Given the description of an element on the screen output the (x, y) to click on. 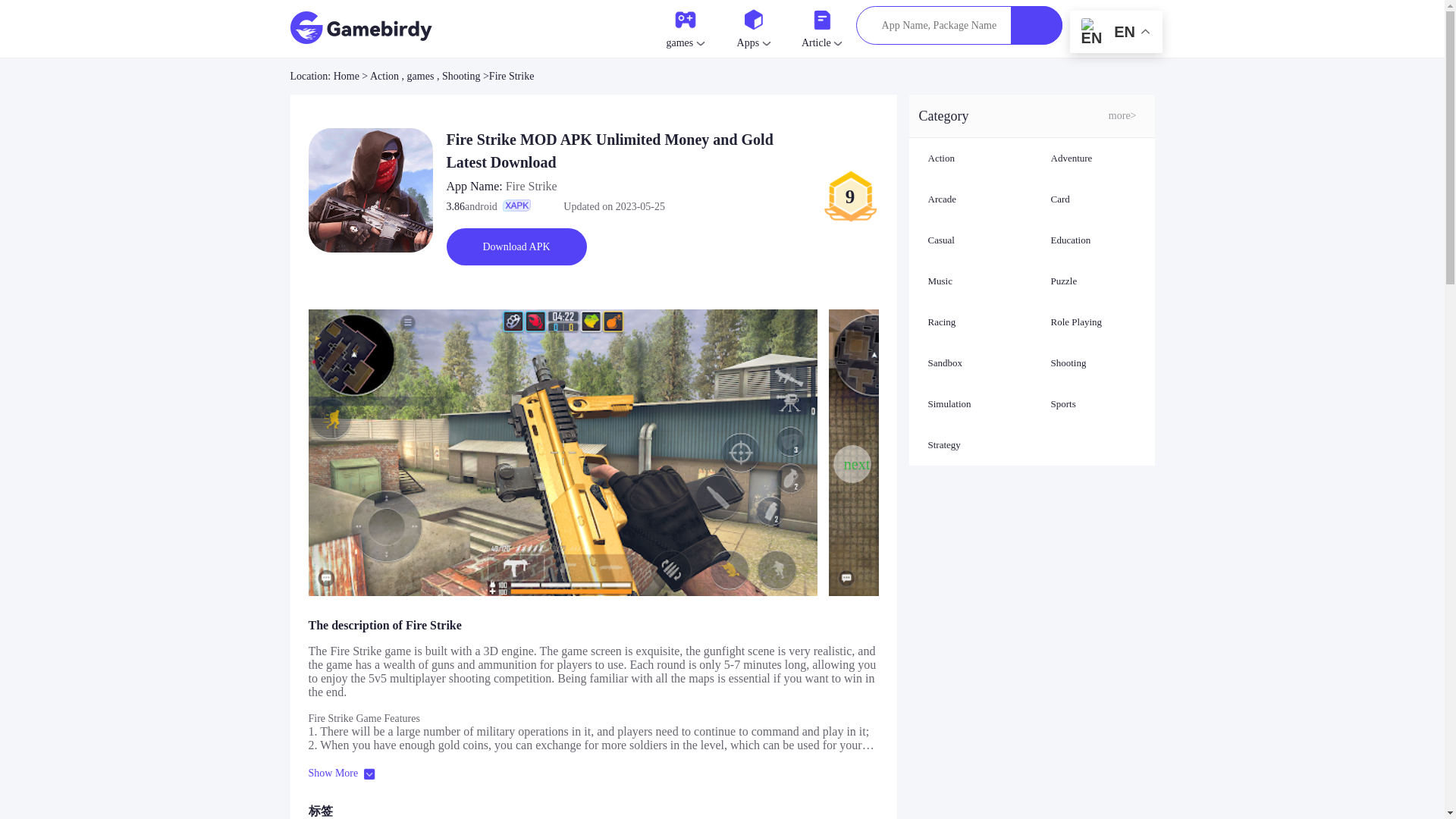
Article (821, 27)
Apps (753, 27)
games (684, 27)
gamebirdy (360, 23)
